Given the description of an element on the screen output the (x, y) to click on. 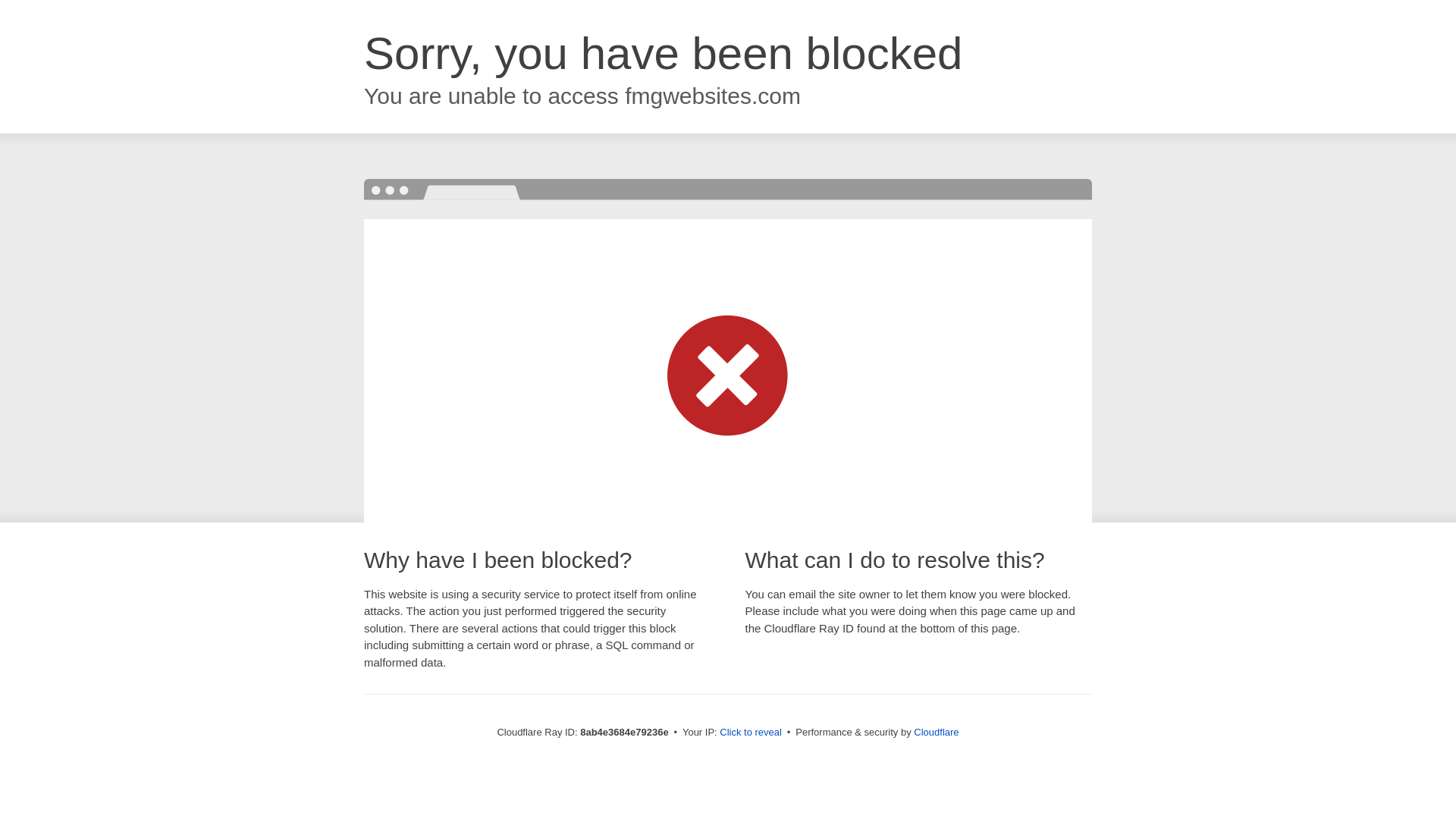
Cloudflare (936, 731)
Click to reveal (750, 732)
